Given the description of an element on the screen output the (x, y) to click on. 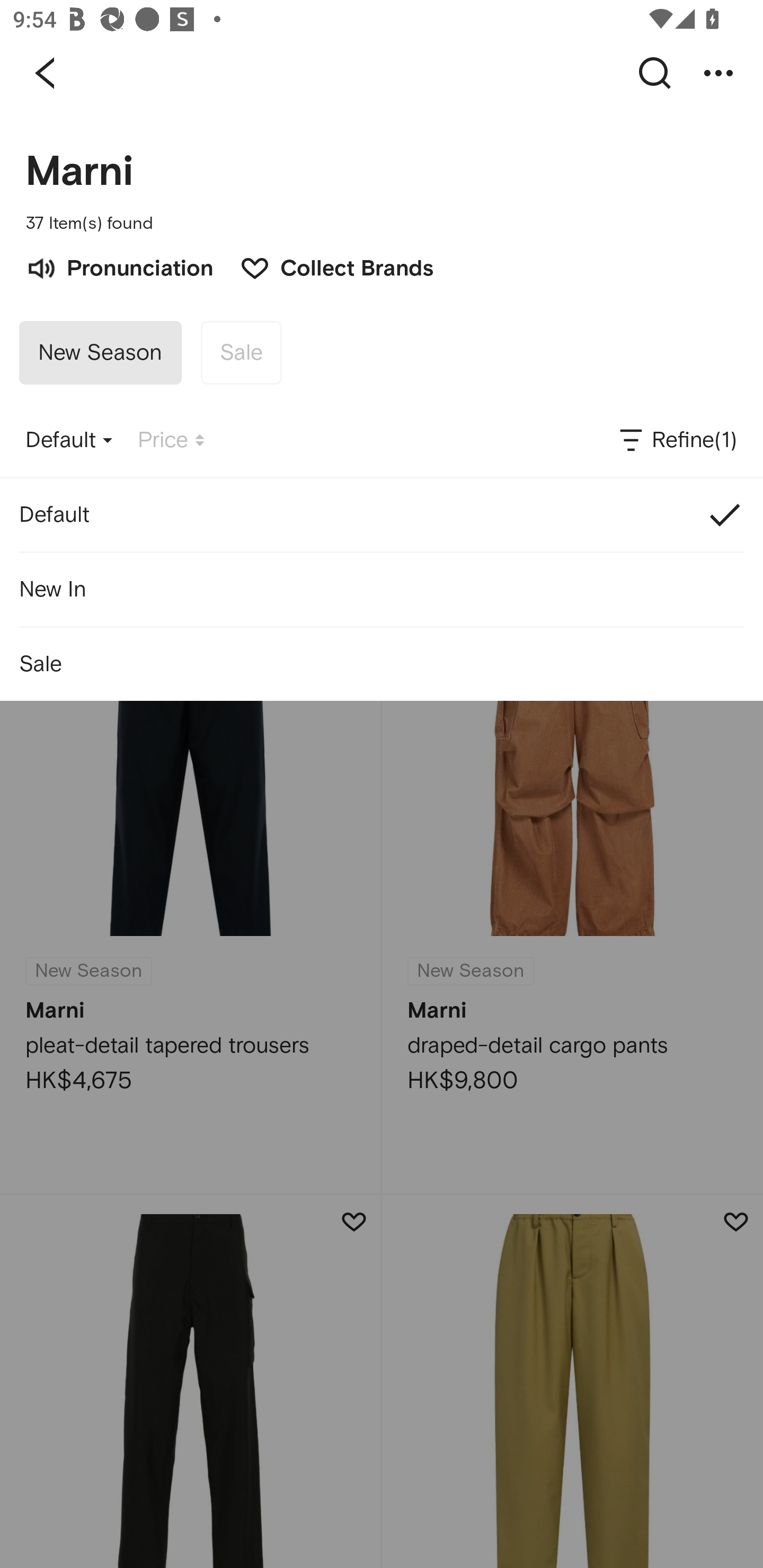
Pronunciation (119, 266)
Collect Brands (327, 266)
New Season (100, 352)
Sale (240, 352)
Default (68, 440)
Price (171, 440)
Refine(1) (677, 440)
Default (381, 514)
New In (381, 588)
Sale (381, 663)
